Given the description of an element on the screen output the (x, y) to click on. 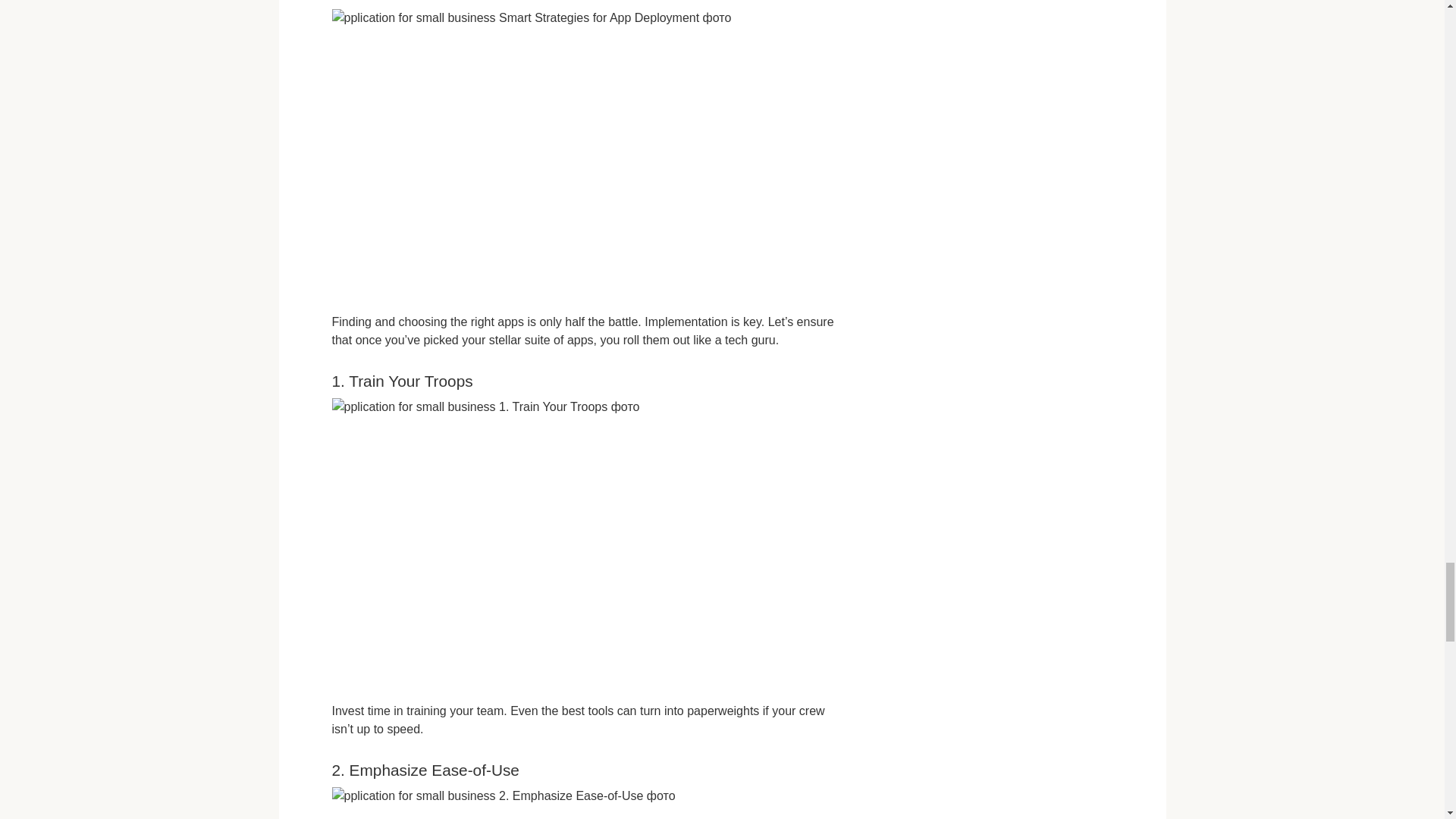
pplication for small business 2. Emphasize Ease-of-Use (585, 803)
